Given the description of an element on the screen output the (x, y) to click on. 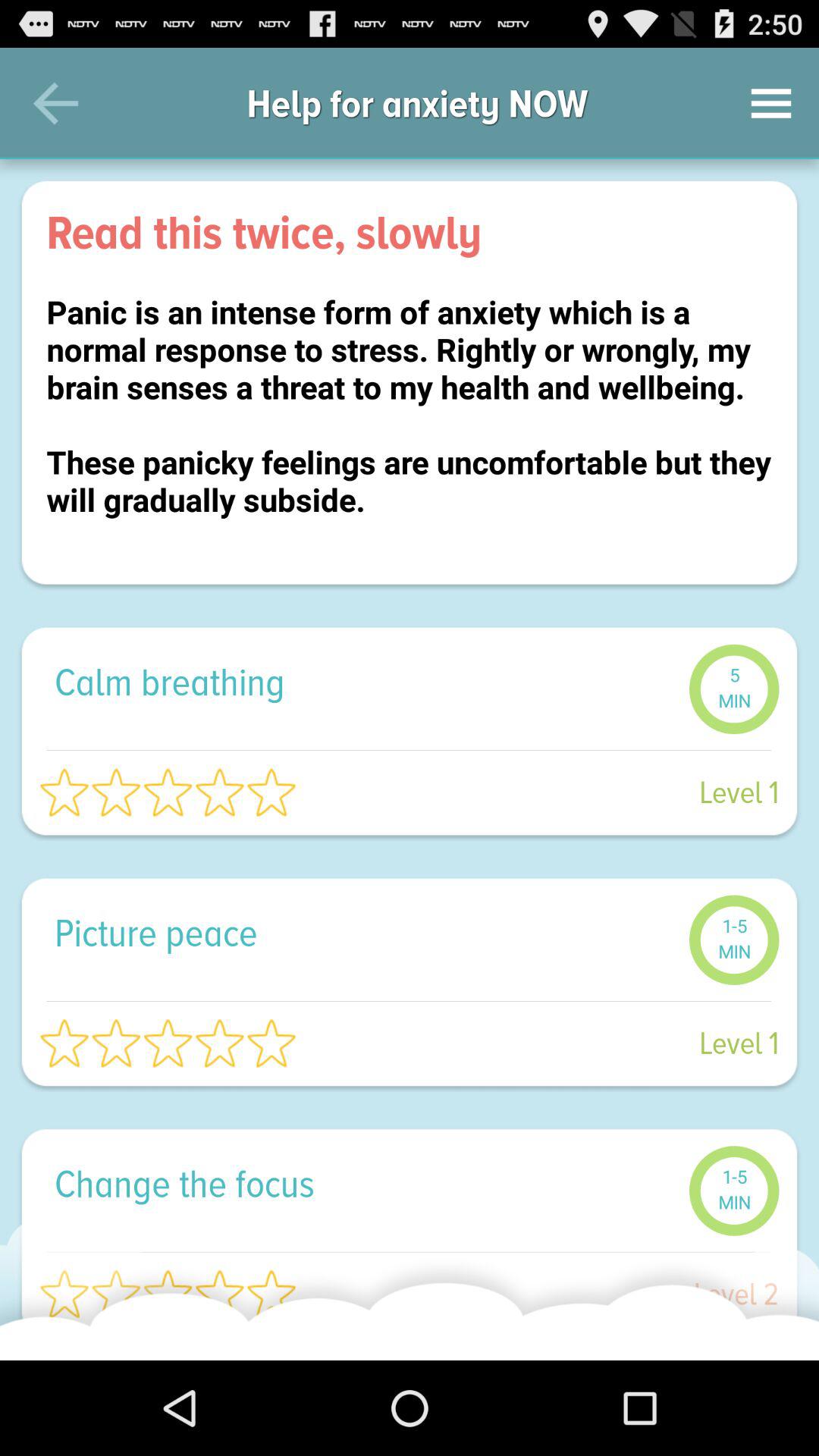
scroll until the calm breathing (363, 681)
